Given the description of an element on the screen output the (x, y) to click on. 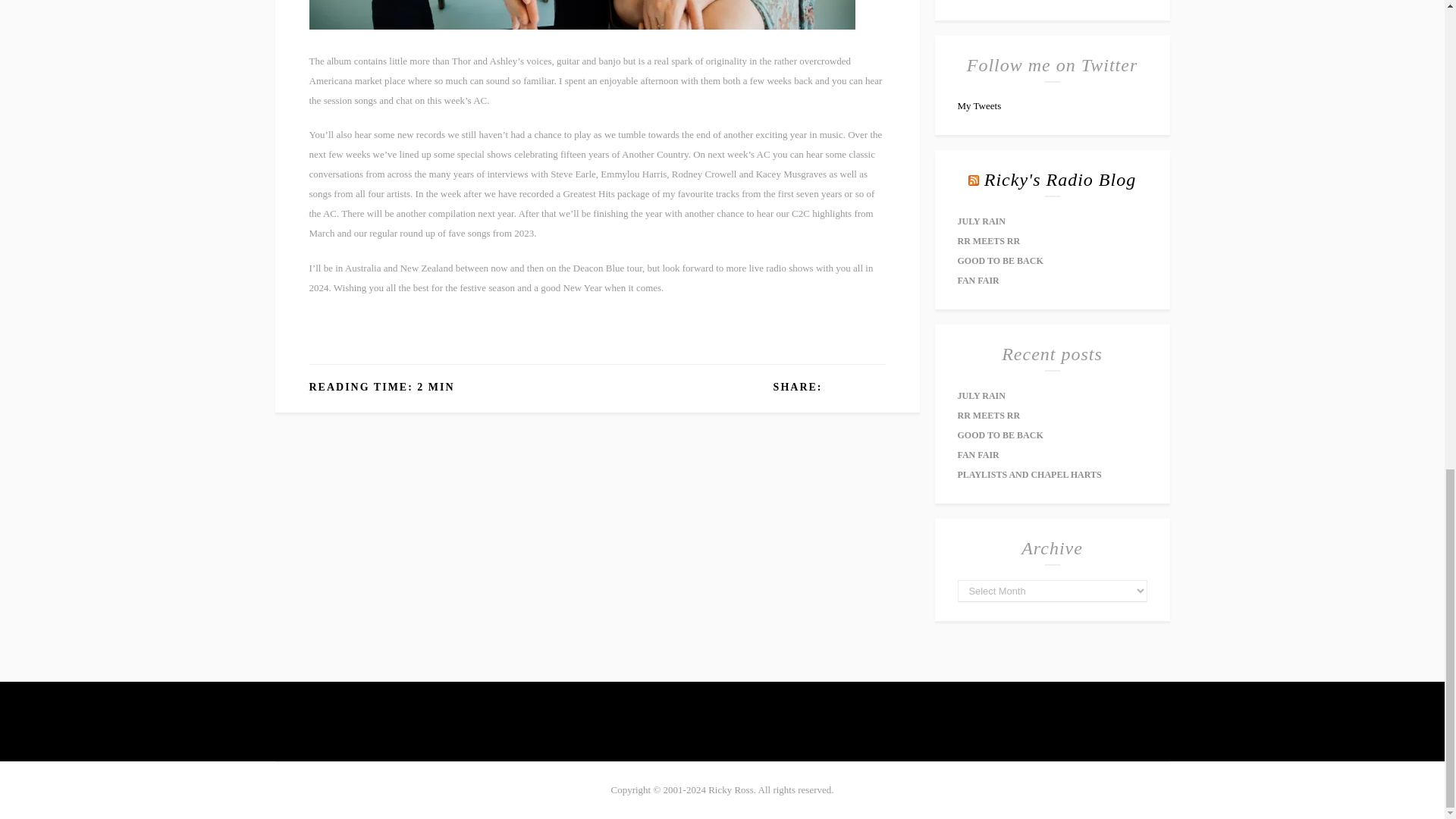
Ricky's Radio Blog (1059, 179)
RR MEETS RR (988, 240)
FAN FAIR (977, 280)
GOOD TO BE BACK (999, 260)
JULY RAIN (980, 395)
JULY RAIN (980, 221)
My Tweets (978, 105)
